Given the description of an element on the screen output the (x, y) to click on. 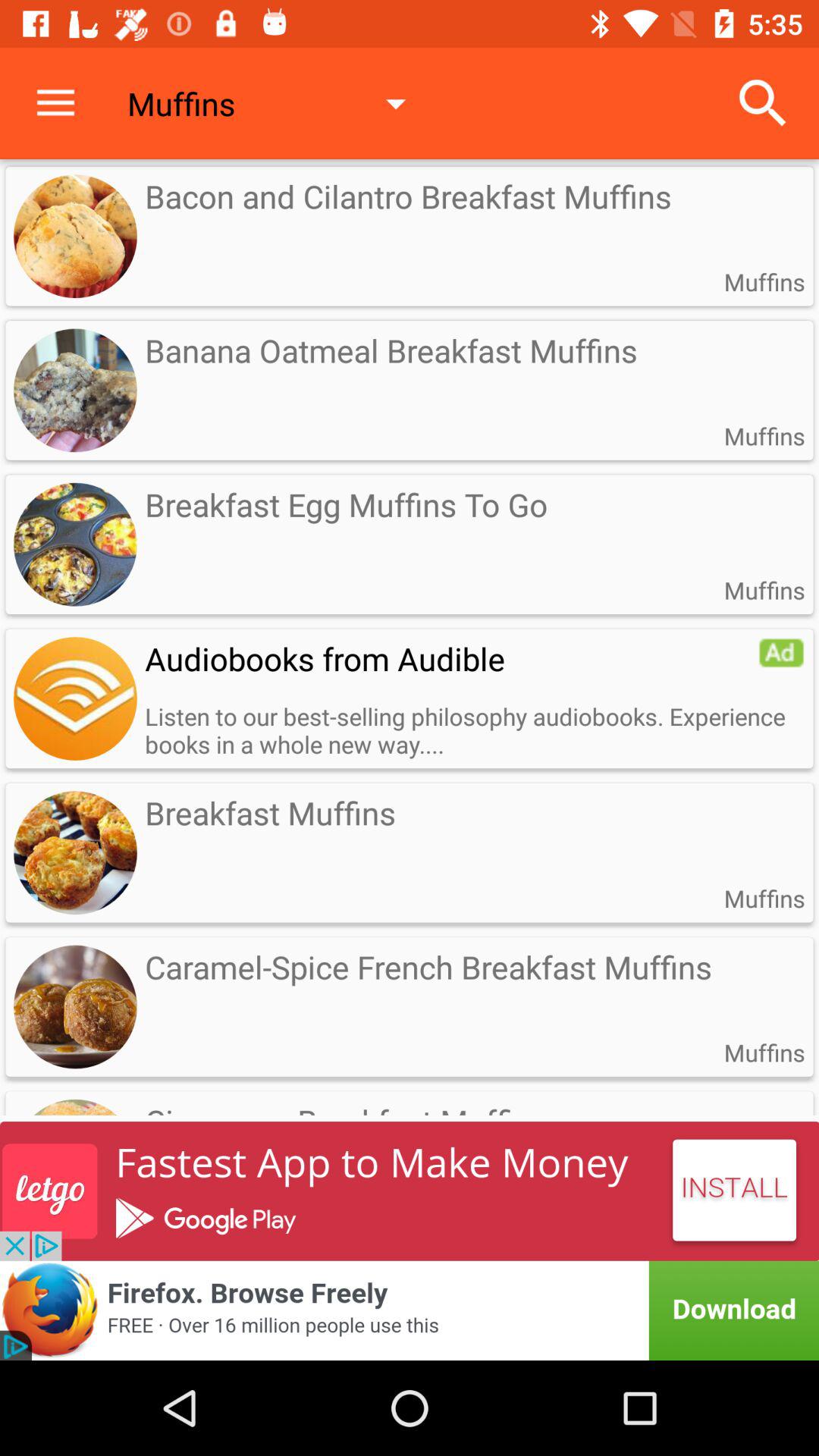
select the ad icon which in the fourth row (781, 652)
